Given the description of an element on the screen output the (x, y) to click on. 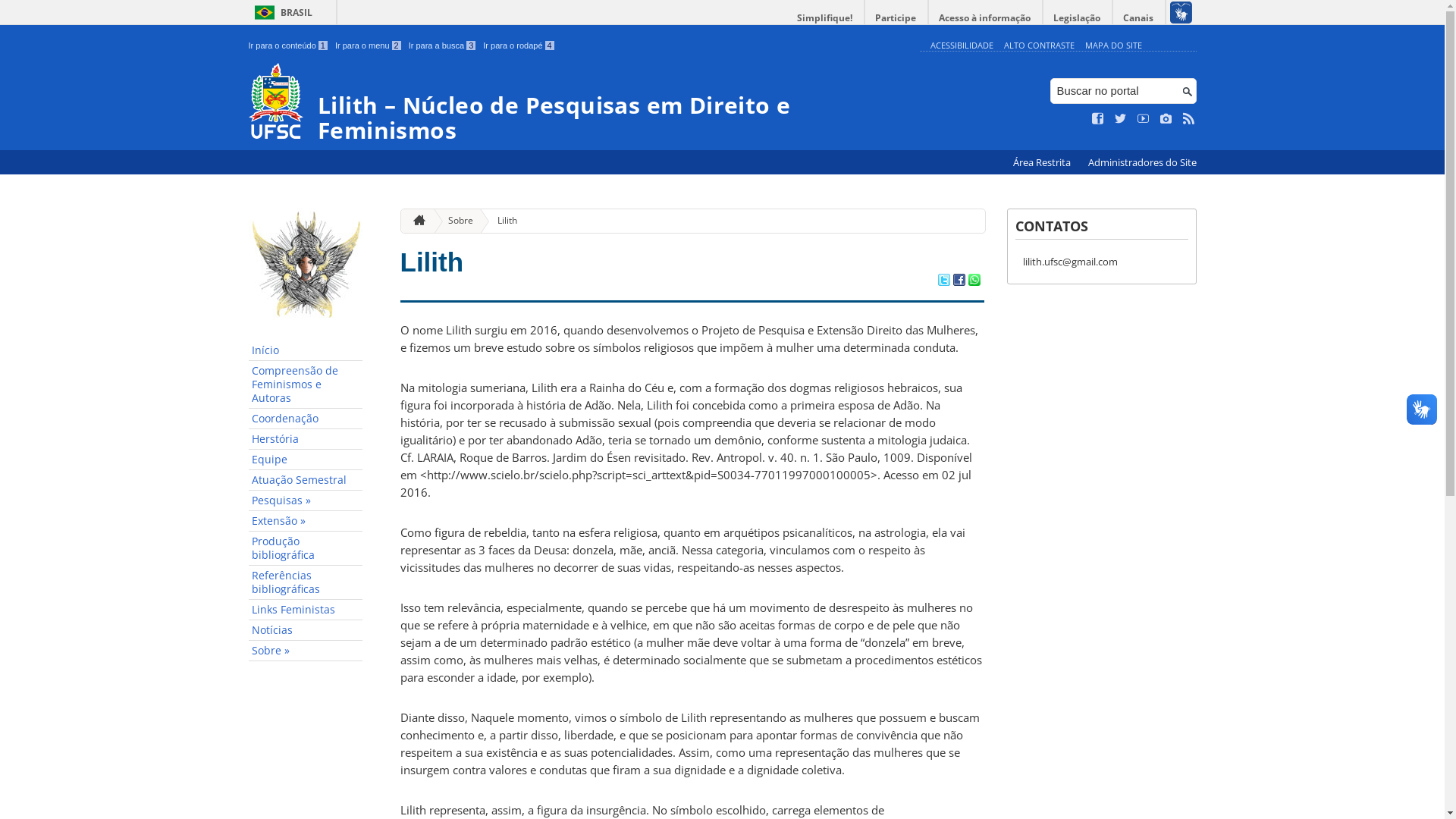
Simplifique! Element type: text (825, 18)
Compartilhar no Facebook Element type: hover (958, 280)
Compartilhar no WhatsApp Element type: hover (973, 280)
Equipe Element type: text (305, 459)
Participe Element type: text (895, 18)
ALTO CONTRASTE Element type: text (1039, 44)
Siga no Twitter Element type: hover (1120, 118)
Sobre Element type: text (454, 220)
Ir para o menu 2 Element type: text (368, 45)
BRASIL Element type: text (280, 12)
Links Feministas Element type: text (305, 609)
Administradores do Site Element type: text (1141, 162)
Curta no Facebook Element type: hover (1098, 118)
MAPA DO SITE Element type: text (1112, 44)
Ir para a busca 3 Element type: text (442, 45)
Lilith Element type: text (432, 261)
Canais Element type: text (1138, 18)
ACESSIBILIDADE Element type: text (960, 44)
Lilith Element type: text (501, 220)
Compartilhar no Twitter Element type: hover (943, 280)
Veja no Instagram Element type: hover (1166, 118)
